Given the description of an element on the screen output the (x, y) to click on. 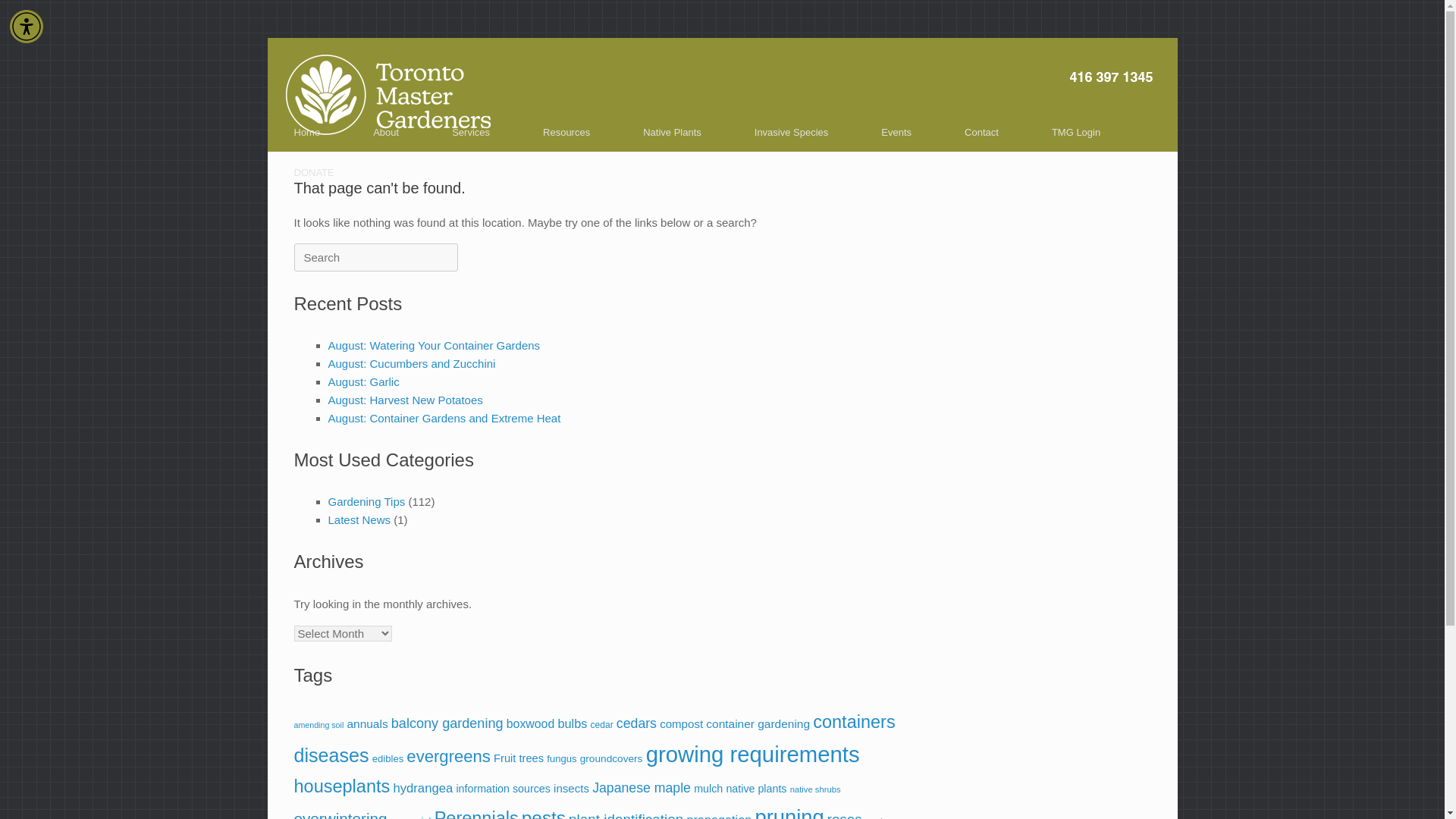
August: Cucumbers and Zucchini (411, 363)
container gardening (757, 723)
Contact (981, 132)
edibles (387, 758)
Gardening Tips (365, 501)
TMG Login (1075, 132)
Latest News (358, 519)
houseplants (342, 786)
growing requirements (753, 754)
balcony gardening (447, 723)
